Given the description of an element on the screen output the (x, y) to click on. 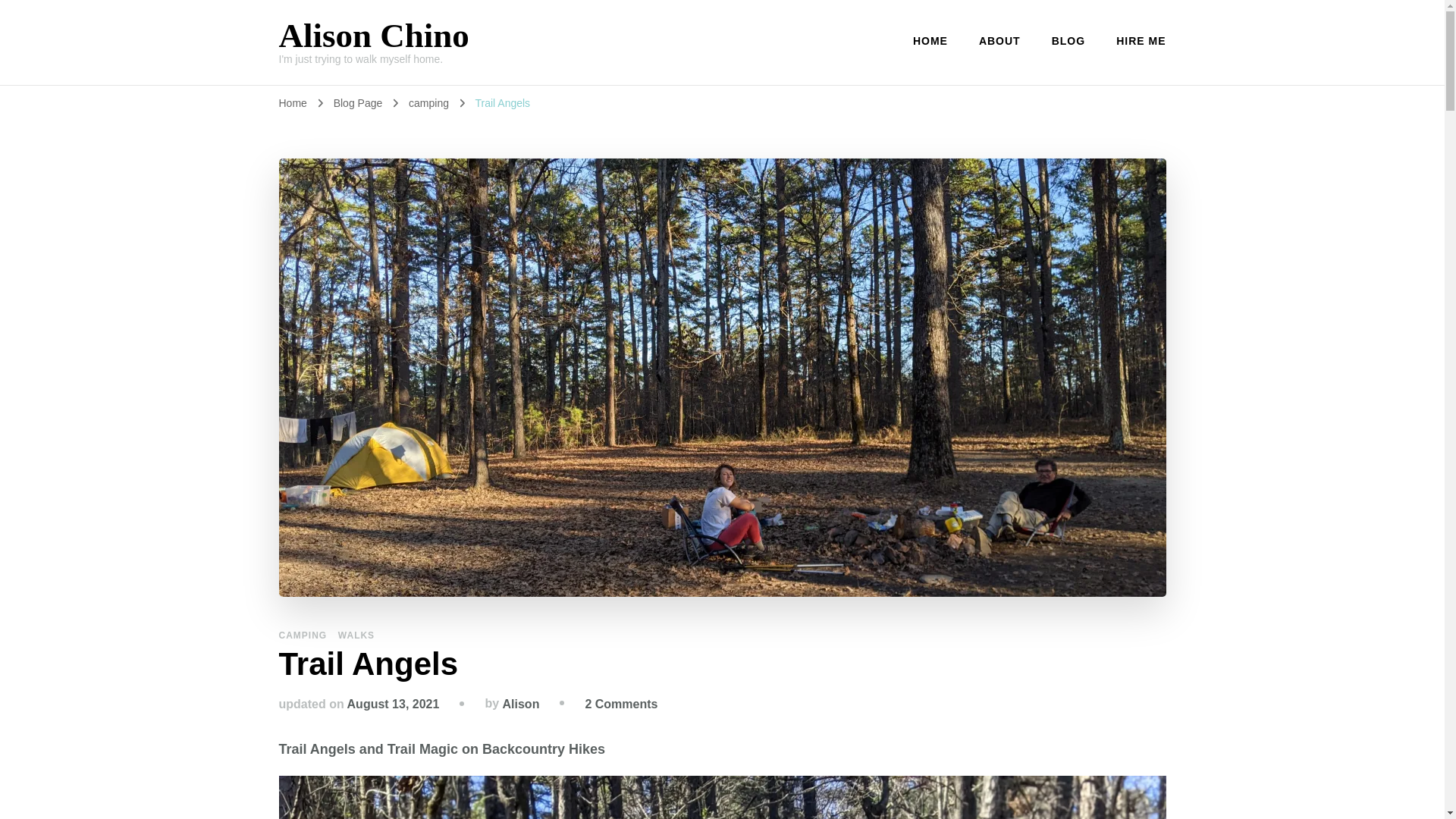
Trail Angels (621, 703)
Alison (501, 102)
camping (521, 703)
CAMPING (430, 102)
WALKS (303, 634)
Alison Chino (355, 634)
HIRE ME (373, 35)
Home (1134, 41)
Blog Page (293, 102)
HOME (359, 102)
August 13, 2021 (929, 41)
BLOG (393, 703)
ABOUT (1068, 41)
